Given the description of an element on the screen output the (x, y) to click on. 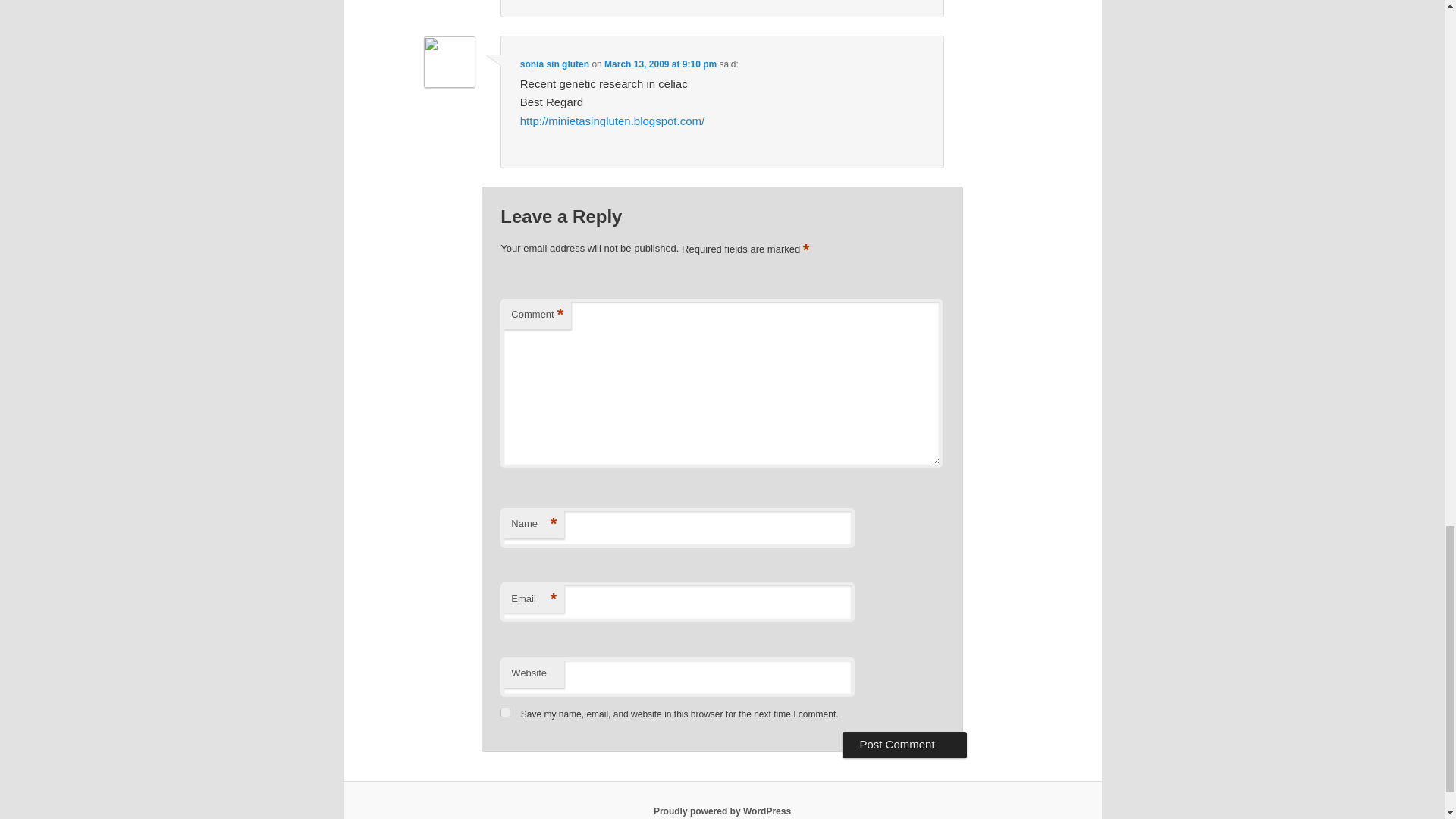
March 13, 2009 at 9:10 pm (660, 63)
yes (505, 712)
sonia sin gluten (554, 63)
Semantic Personal Publishing Platform (721, 810)
Proudly powered by WordPress (721, 810)
Post Comment (904, 744)
Post Comment (904, 744)
